Given the description of an element on the screen output the (x, y) to click on. 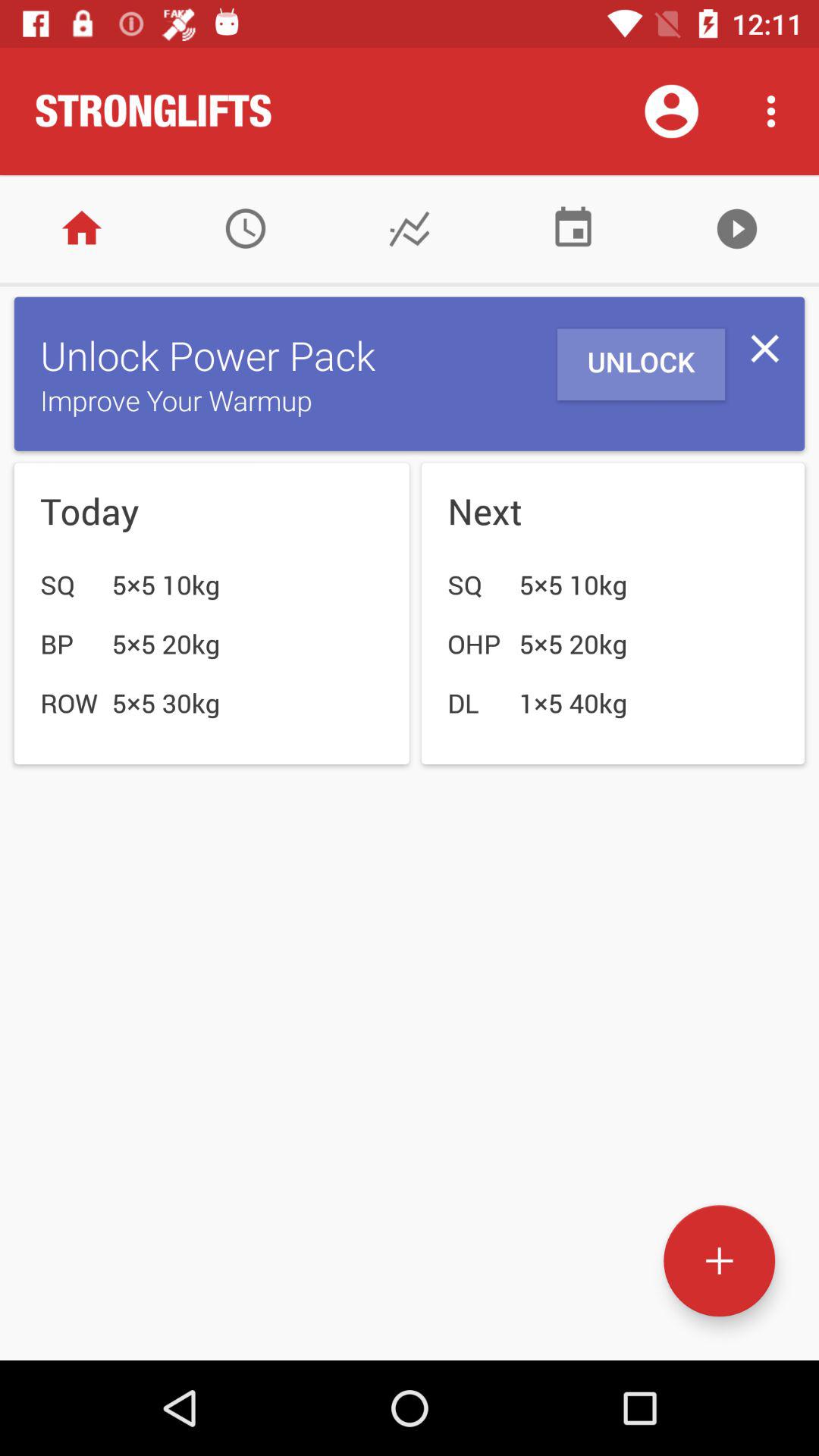
turn on the icon to the right of the unlock item (764, 348)
